Given the description of an element on the screen output the (x, y) to click on. 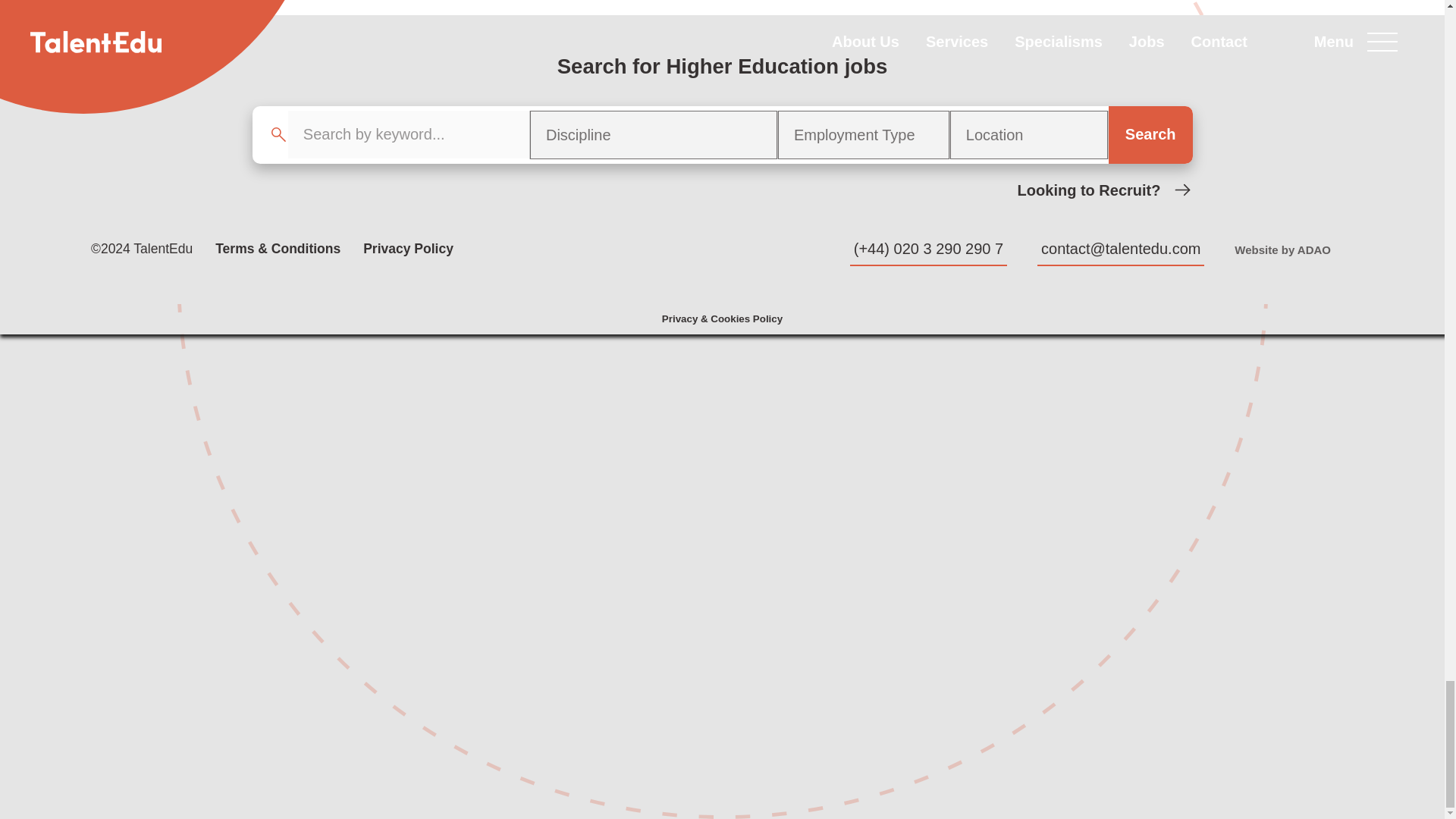
Website by ADAO (1282, 249)
Search (1150, 133)
Privacy Policy (407, 248)
Looking to Recruit? (1104, 189)
